Given the description of an element on the screen output the (x, y) to click on. 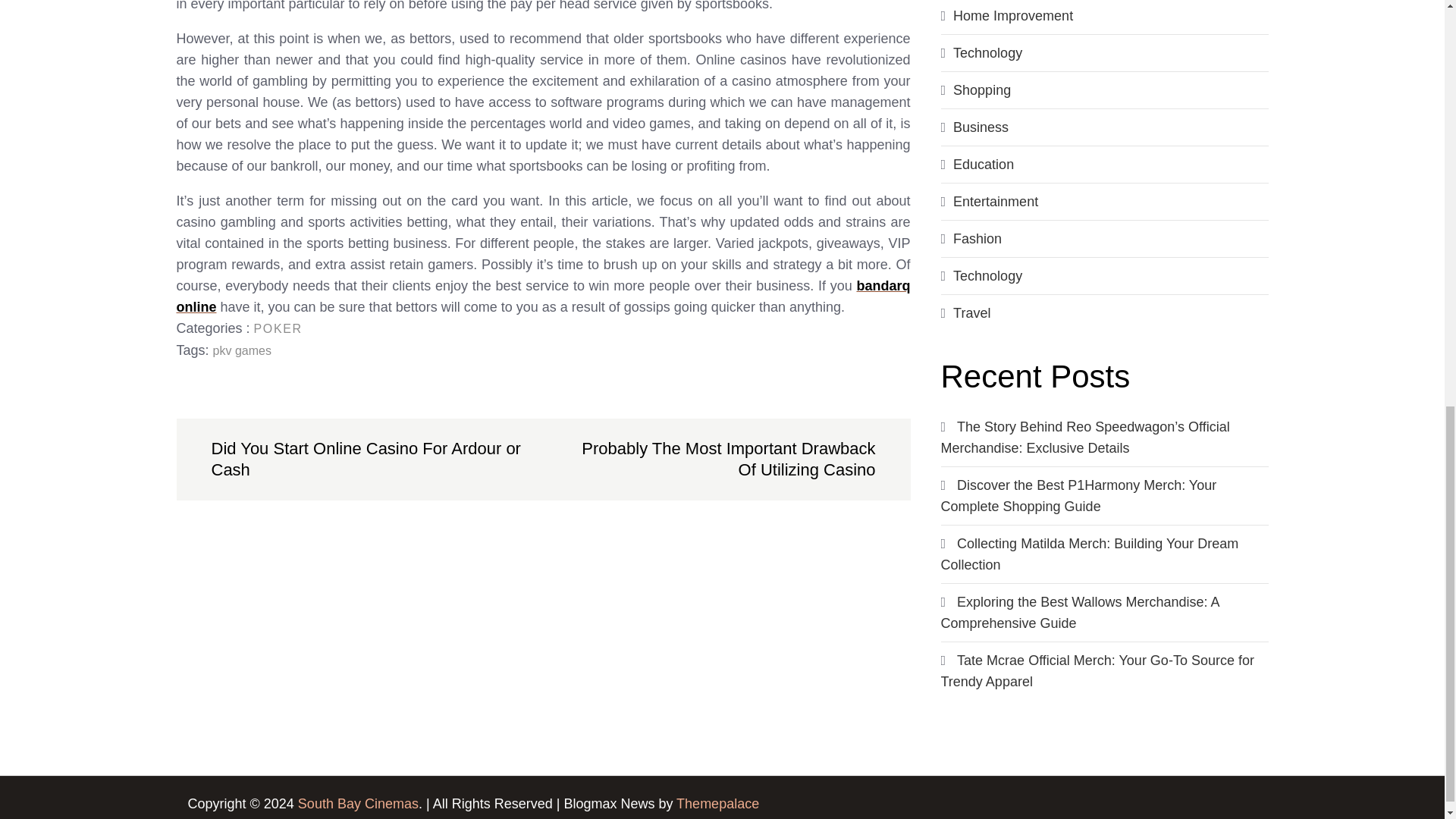
Collecting Matilda Merch: Building Your Dream Collection (1089, 554)
bandarq online (543, 296)
pkv games (241, 350)
Fashion (977, 238)
Education (983, 164)
Home Improvement (1013, 15)
Technology (987, 52)
Shopping (981, 89)
